Given the description of an element on the screen output the (x, y) to click on. 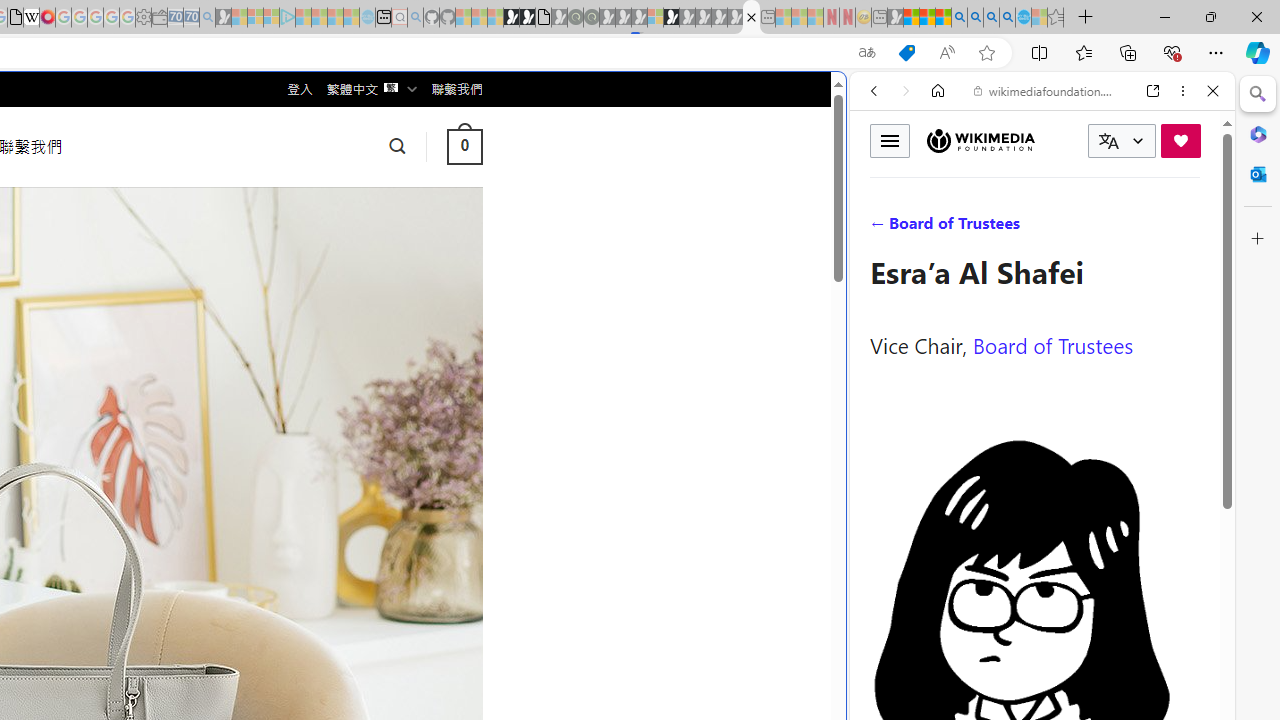
Future Focus Report 2024 - Sleeping (591, 17)
